Given the description of an element on the screen output the (x, y) to click on. 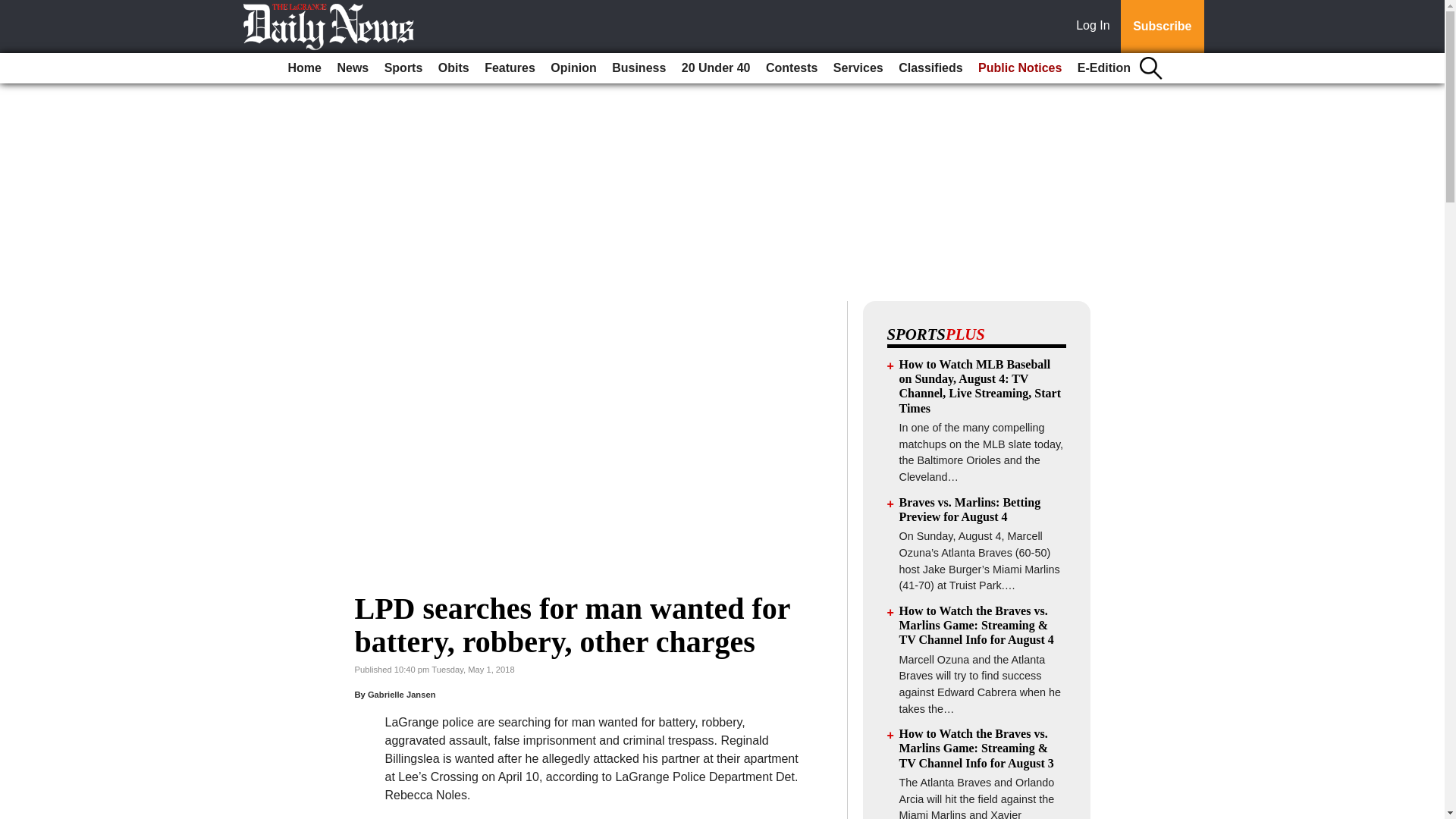
News (352, 68)
E-Edition (1104, 68)
Go (13, 9)
Obits (454, 68)
Classifieds (930, 68)
Features (510, 68)
Contests (792, 68)
Opinion (573, 68)
Home (304, 68)
Log In (1095, 26)
Gabrielle Jansen (401, 694)
20 Under 40 (716, 68)
Braves vs. Marlins: Betting Preview for August 4 (970, 509)
Sports (403, 68)
